Given the description of an element on the screen output the (x, y) to click on. 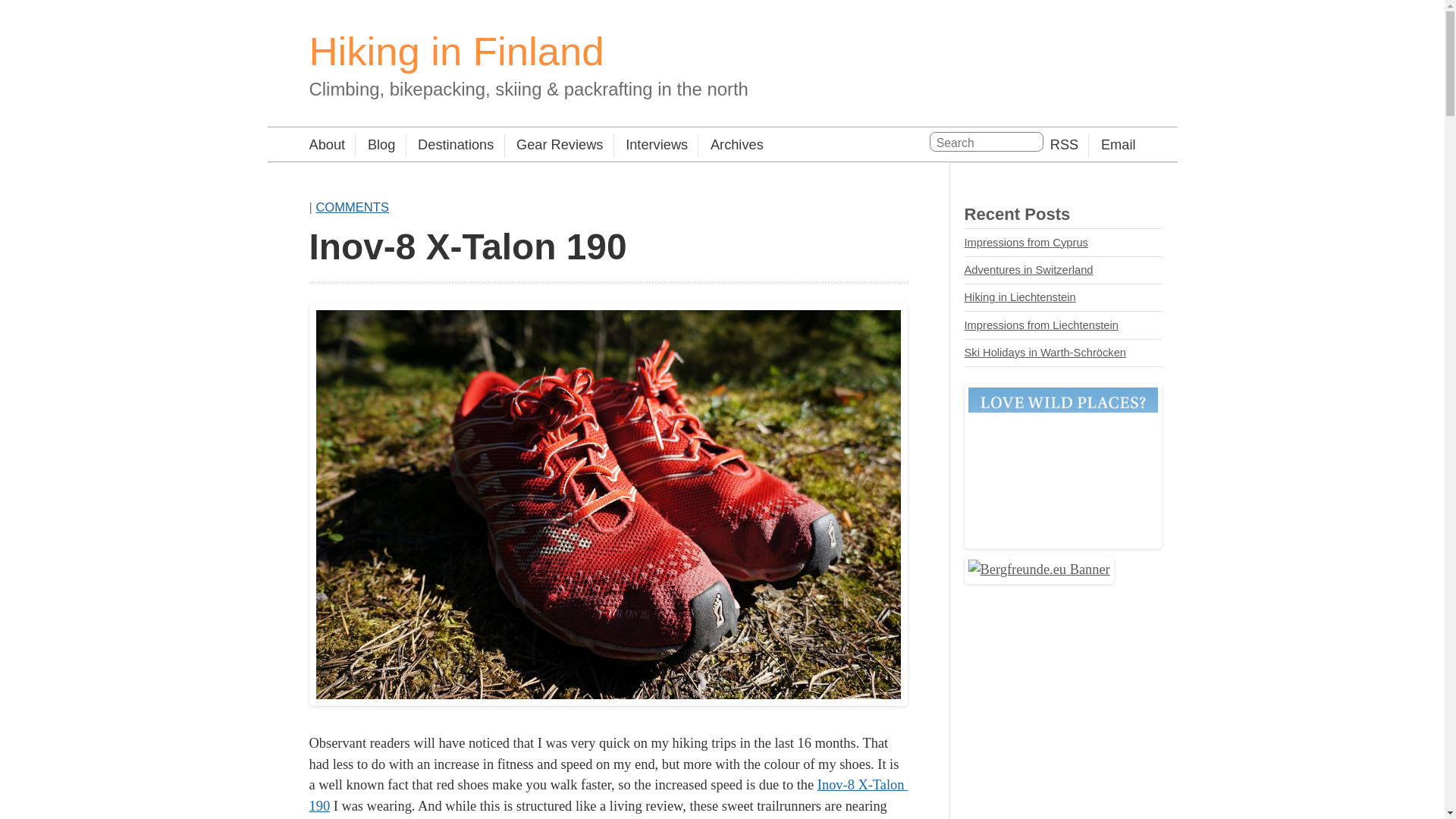
Untitled by HendrikMorkel, on Flickr (607, 701)
Archives (730, 146)
Destinations (450, 146)
Hiking in Finland (456, 50)
About (327, 146)
Blog (374, 146)
COMMENTS (351, 206)
Interviews (651, 146)
Inov-8 X-Talon 190 (608, 795)
Gear Reviews (554, 146)
